Given the description of an element on the screen output the (x, y) to click on. 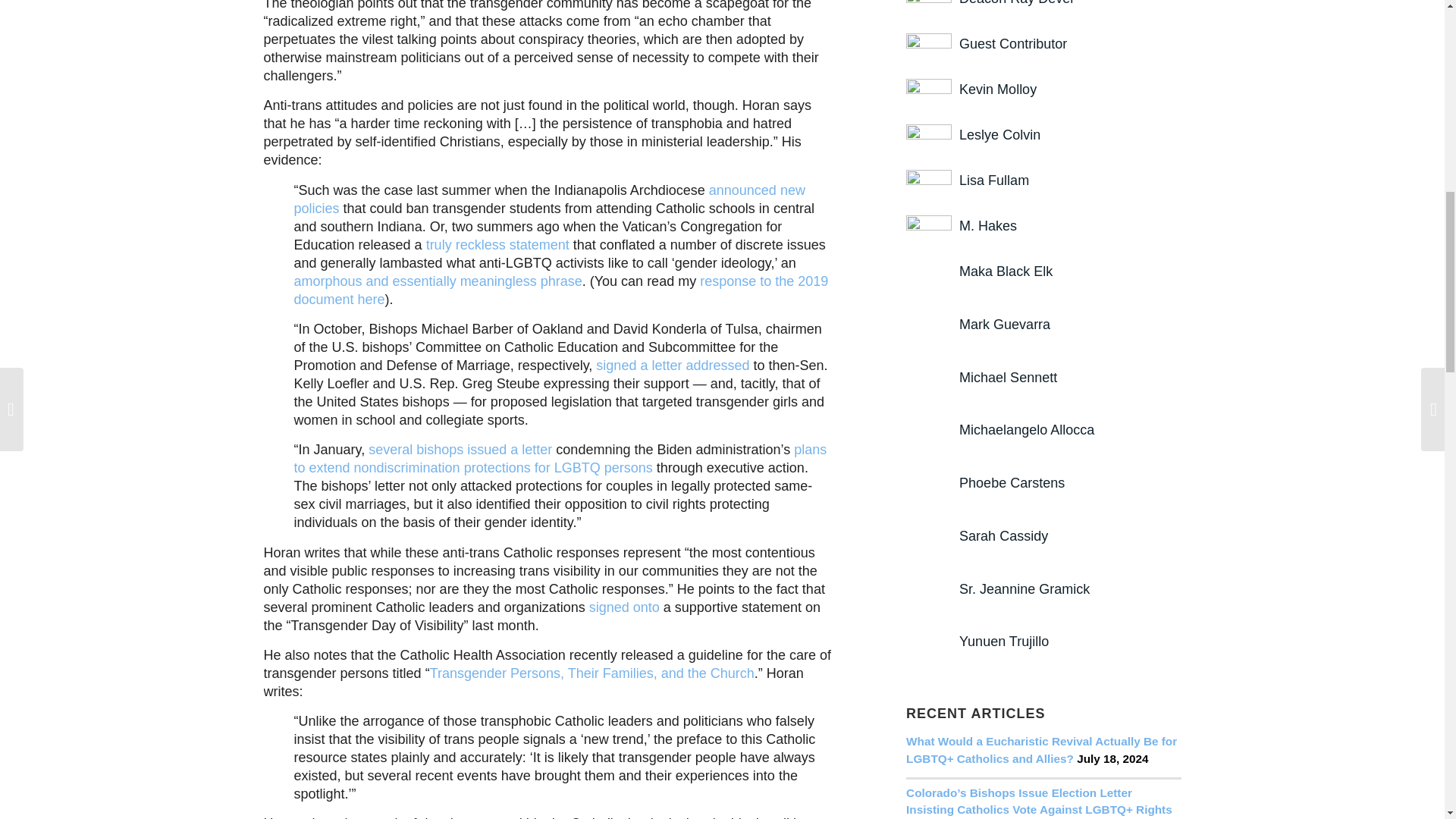
response to the 2019 document here (561, 290)
signed a letter addressed (672, 365)
announced new policies (549, 199)
truly reckless statement (497, 244)
several bishops issued a letter (459, 449)
signed onto (624, 607)
amorphous and essentially meaningless phrase (438, 281)
